Given the description of an element on the screen output the (x, y) to click on. 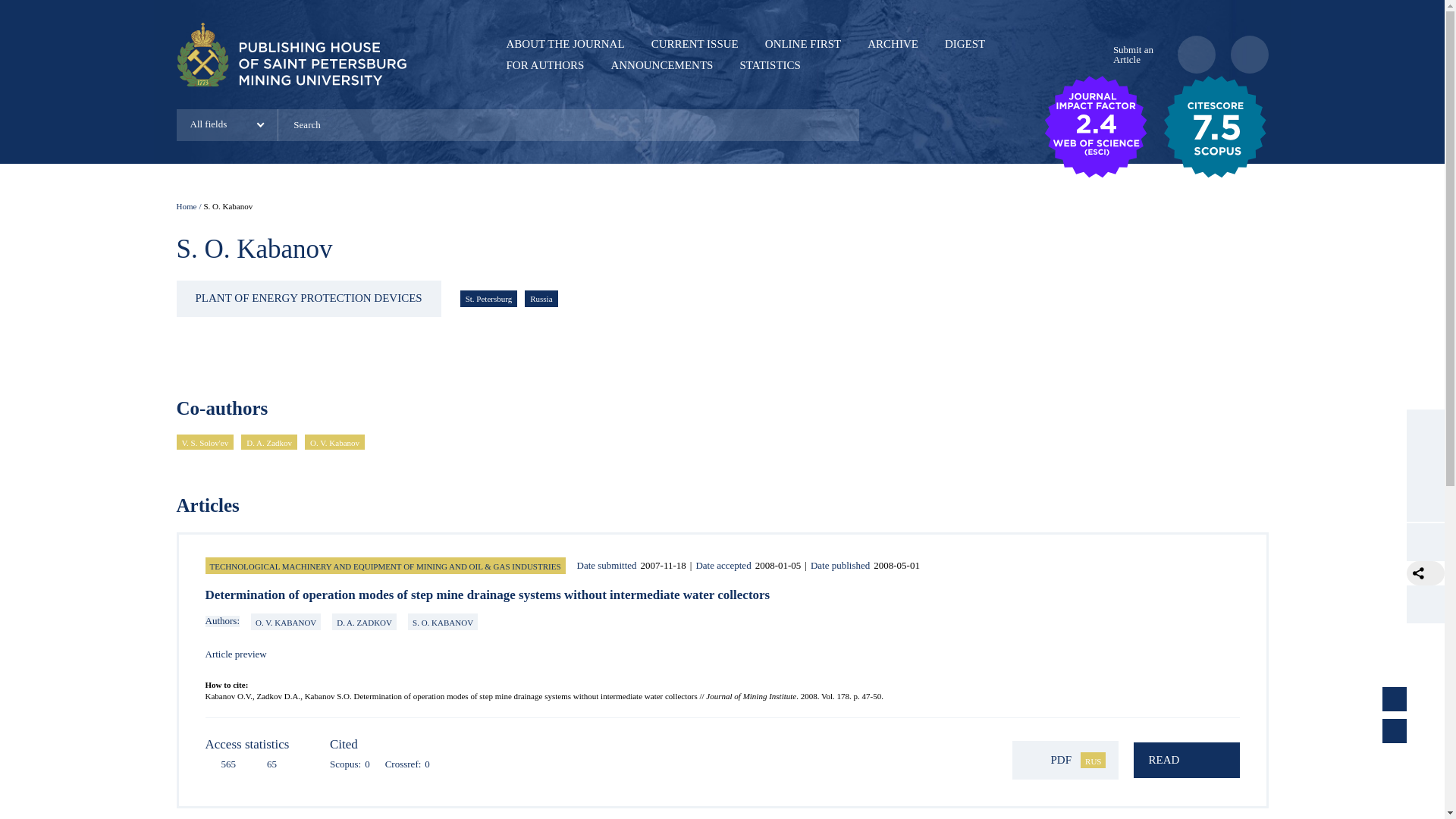
ANNOUNCEMENTS (661, 64)
CURRENT ISSUE (694, 43)
DIGEST (964, 43)
ARCHIVE (892, 43)
FOR AUTHORS (545, 64)
Submit an Article (1130, 54)
STATISTICS (769, 64)
ONLINE FIRST (803, 43)
ABOUT THE JOURNAL (565, 43)
